Given the description of an element on the screen output the (x, y) to click on. 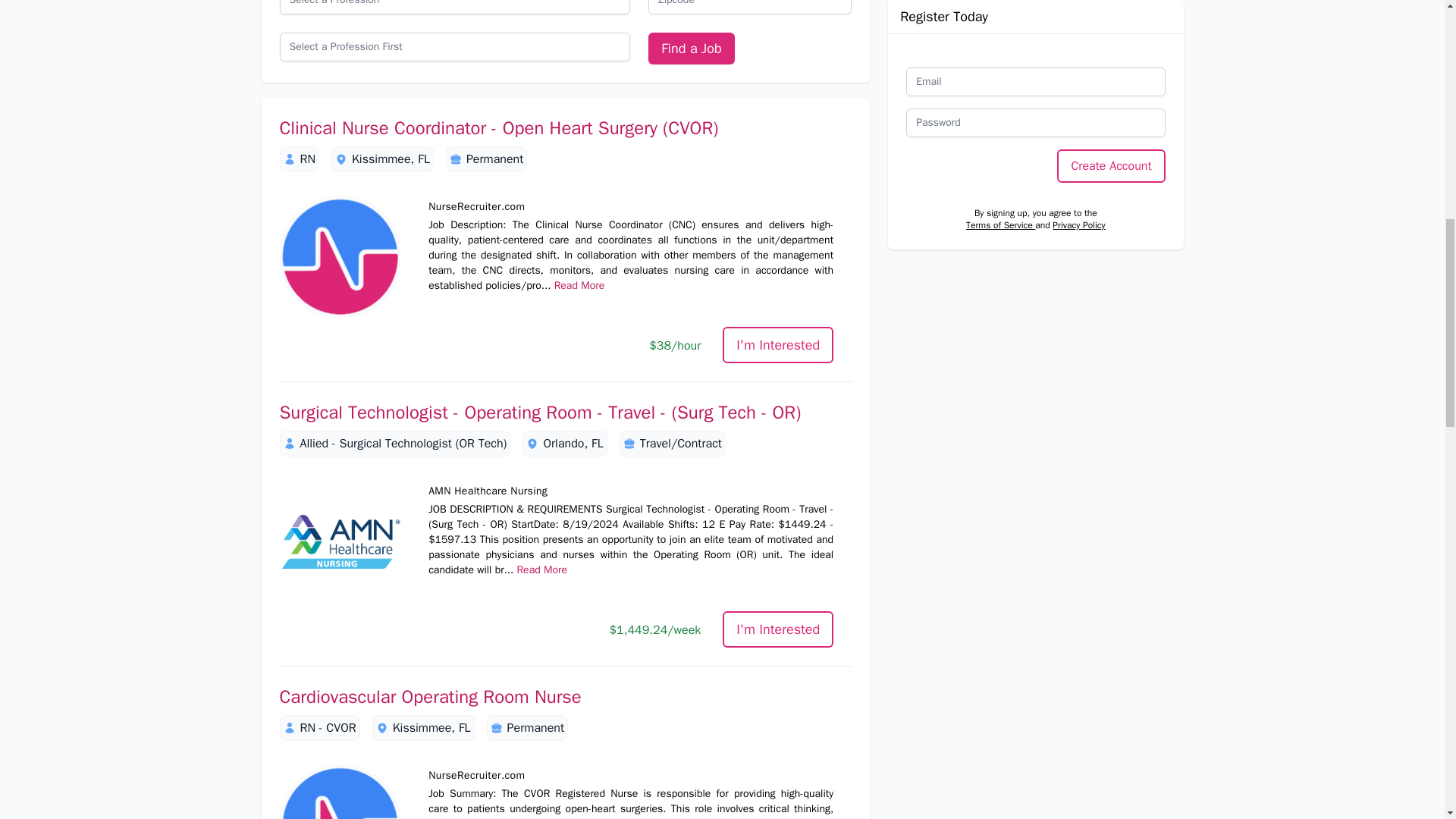
Find a Job (690, 48)
I'm Interested (777, 344)
NurseRecruiter.com (339, 791)
Cardiovascular Operating Room Nurse (565, 696)
Read More (541, 569)
Terms of Service (1000, 158)
Create Account (1110, 99)
AMN Healthcare Nursing (339, 540)
Privacy Policy (1078, 158)
I'm Interested (777, 628)
